Given the description of an element on the screen output the (x, y) to click on. 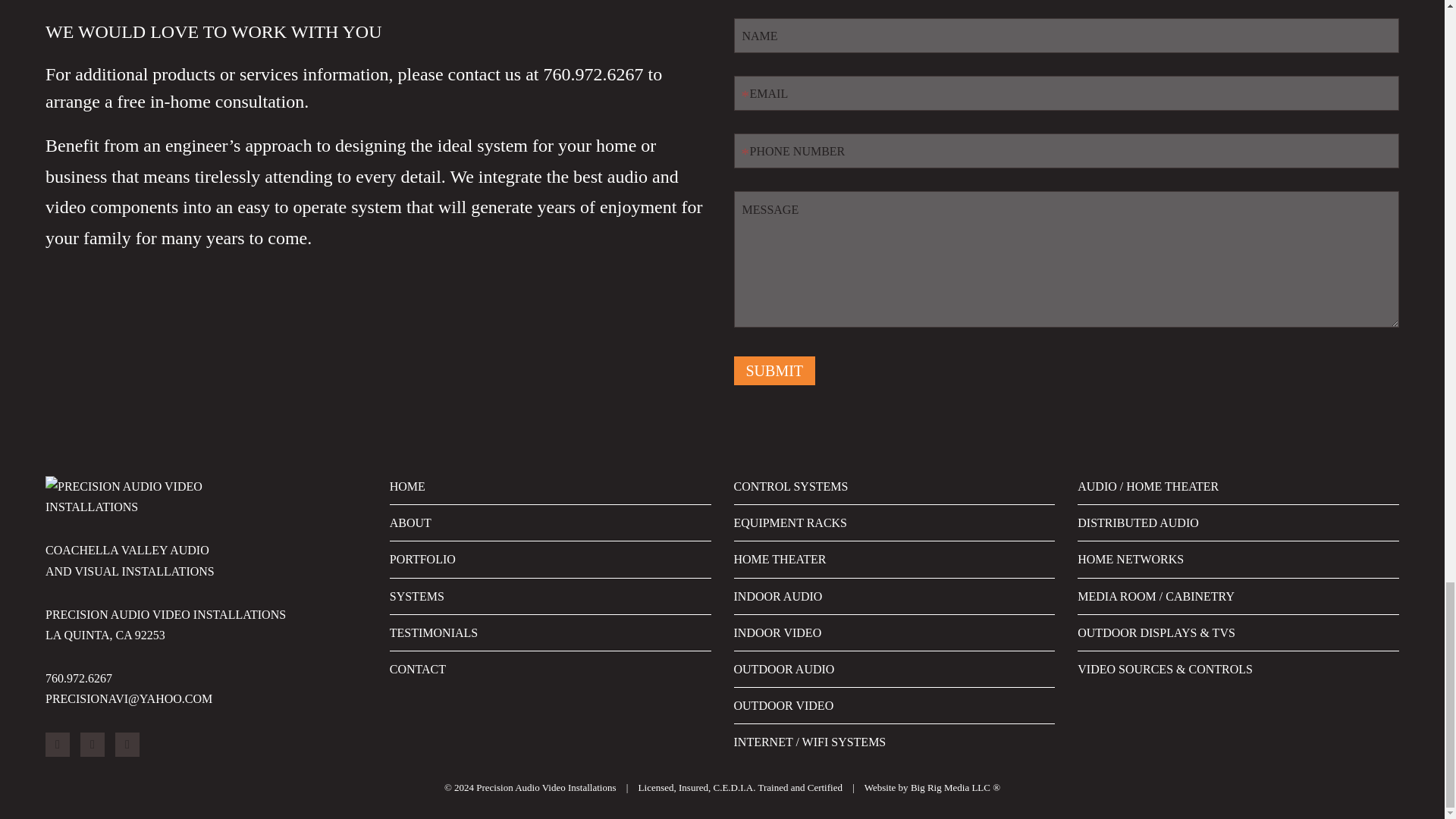
SYSTEMS (417, 595)
760.972.6267 (593, 74)
PORTFOLIO (422, 558)
Submit (774, 370)
760.972.6267 (78, 677)
TESTIMONIALS (433, 632)
EQUIPMENT RACKS (790, 522)
ABOUT (410, 522)
HOME THEATER (780, 558)
HOME (407, 486)
